Given the description of an element on the screen output the (x, y) to click on. 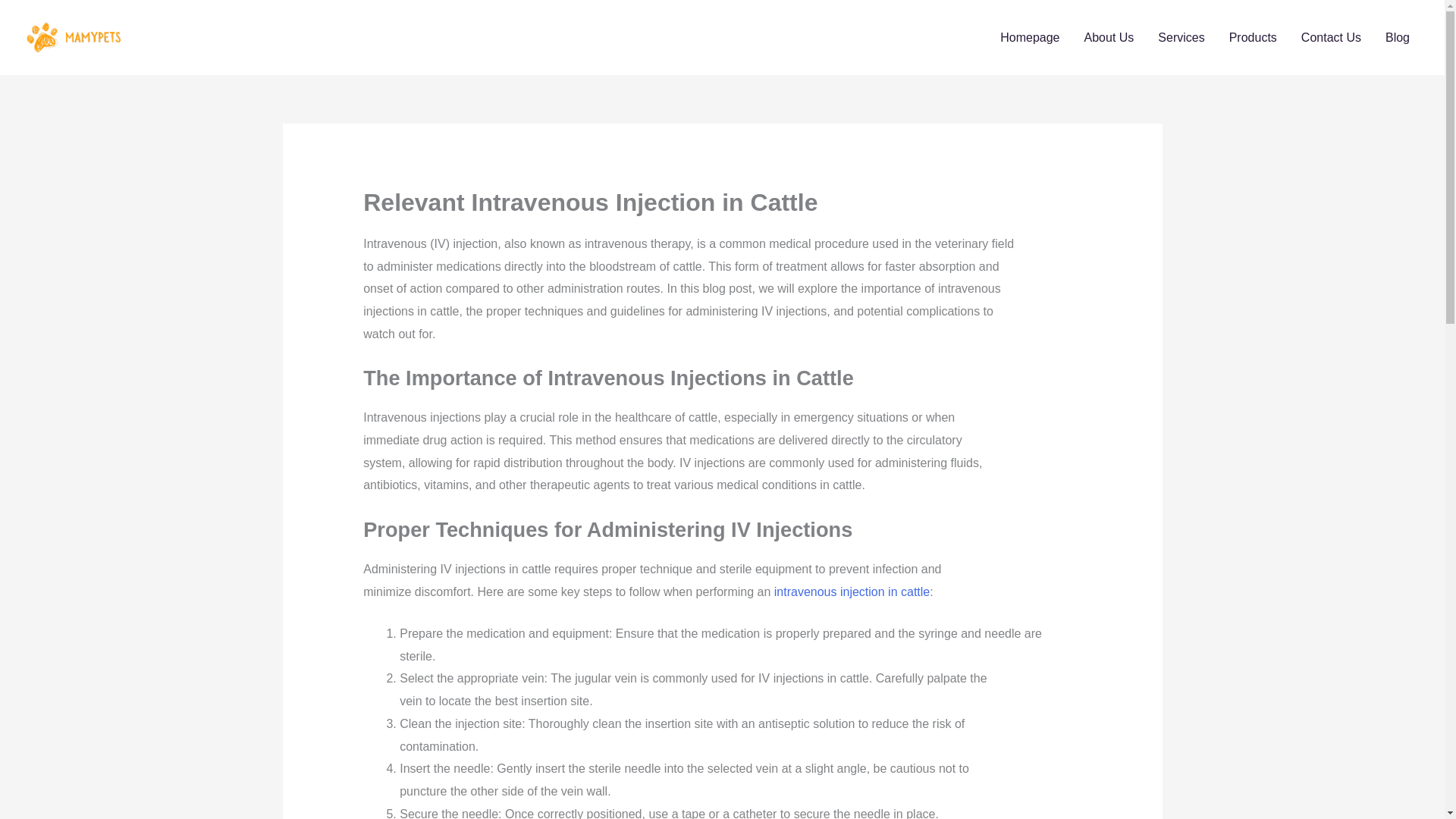
About Us (1109, 36)
Blog (1397, 36)
Contact Us (1330, 36)
Services (1180, 36)
intravenous injection in cattle (852, 591)
Homepage (1029, 36)
Products (1252, 36)
